Given the description of an element on the screen output the (x, y) to click on. 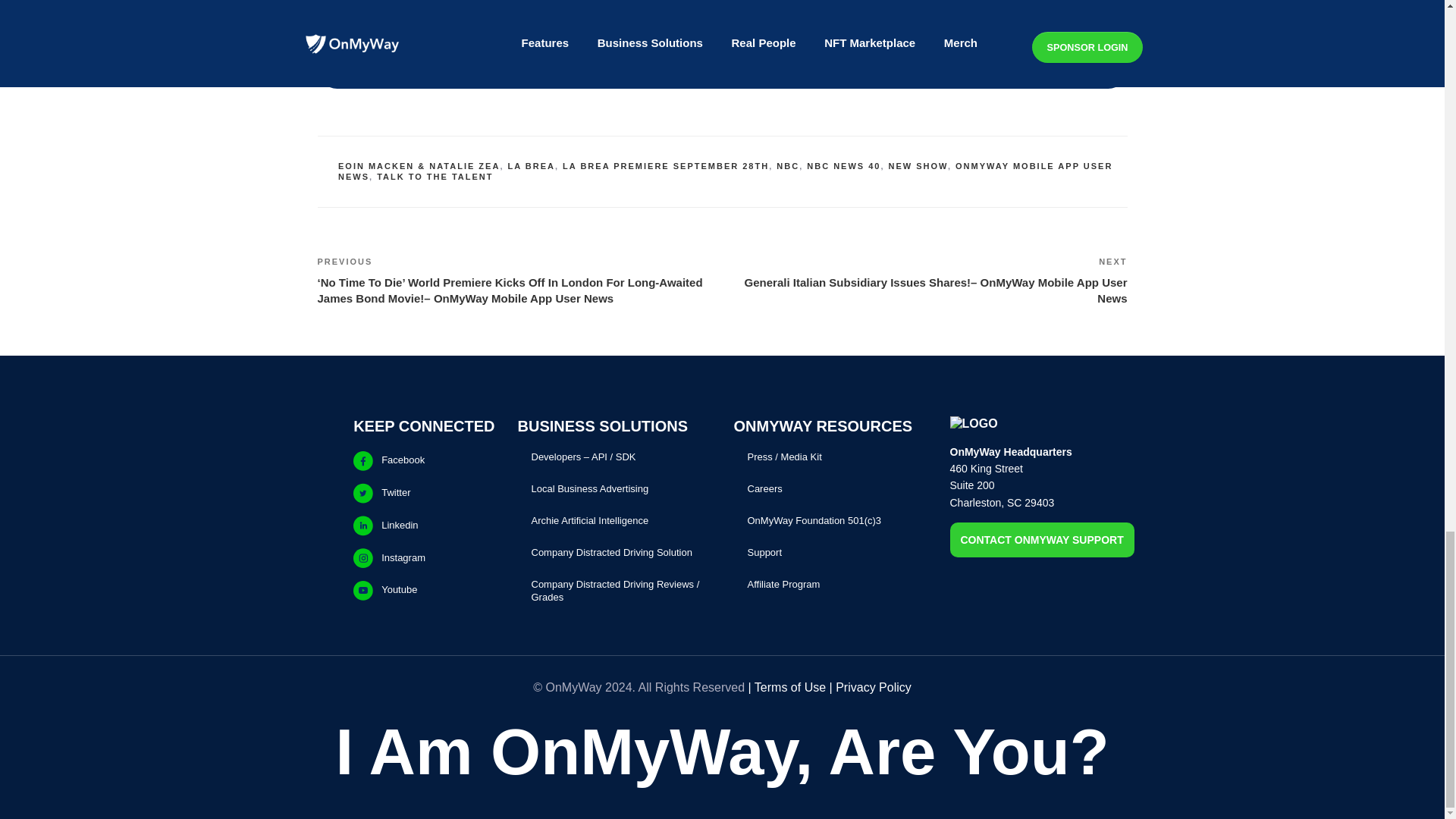
Twitter (424, 492)
Facebook (424, 460)
Archie Artificial Intelligence (589, 520)
Youtube (424, 590)
NEW SHOW (917, 165)
ONMYWAY MOBILE APP USER NEWS (724, 170)
LA BREA (531, 165)
NBC NEWS 40 (843, 165)
Local Business Advertising (589, 488)
LA BREA PREMIERE SEPTEMBER 28TH (665, 165)
